Given the description of an element on the screen output the (x, y) to click on. 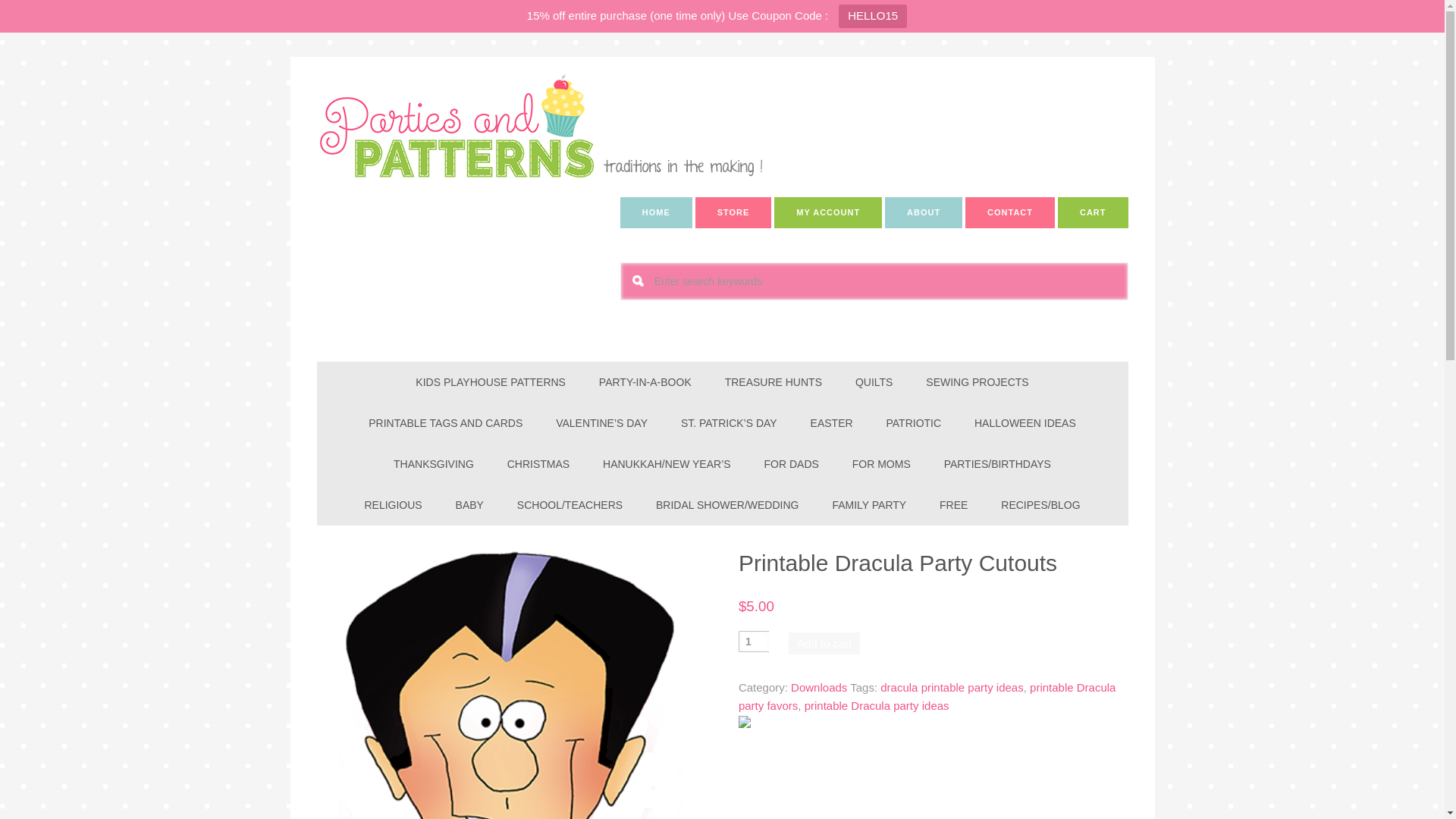
Qty (753, 640)
MY ACCOUNT (828, 212)
CART (1093, 212)
FOR DADS (791, 463)
FAMILY PARTY (868, 504)
HALLOWEEN IDEAS (1024, 422)
HELLO15 (872, 15)
STORE (733, 212)
Printable Dracula Party Cutouts (511, 684)
